Given the description of an element on the screen output the (x, y) to click on. 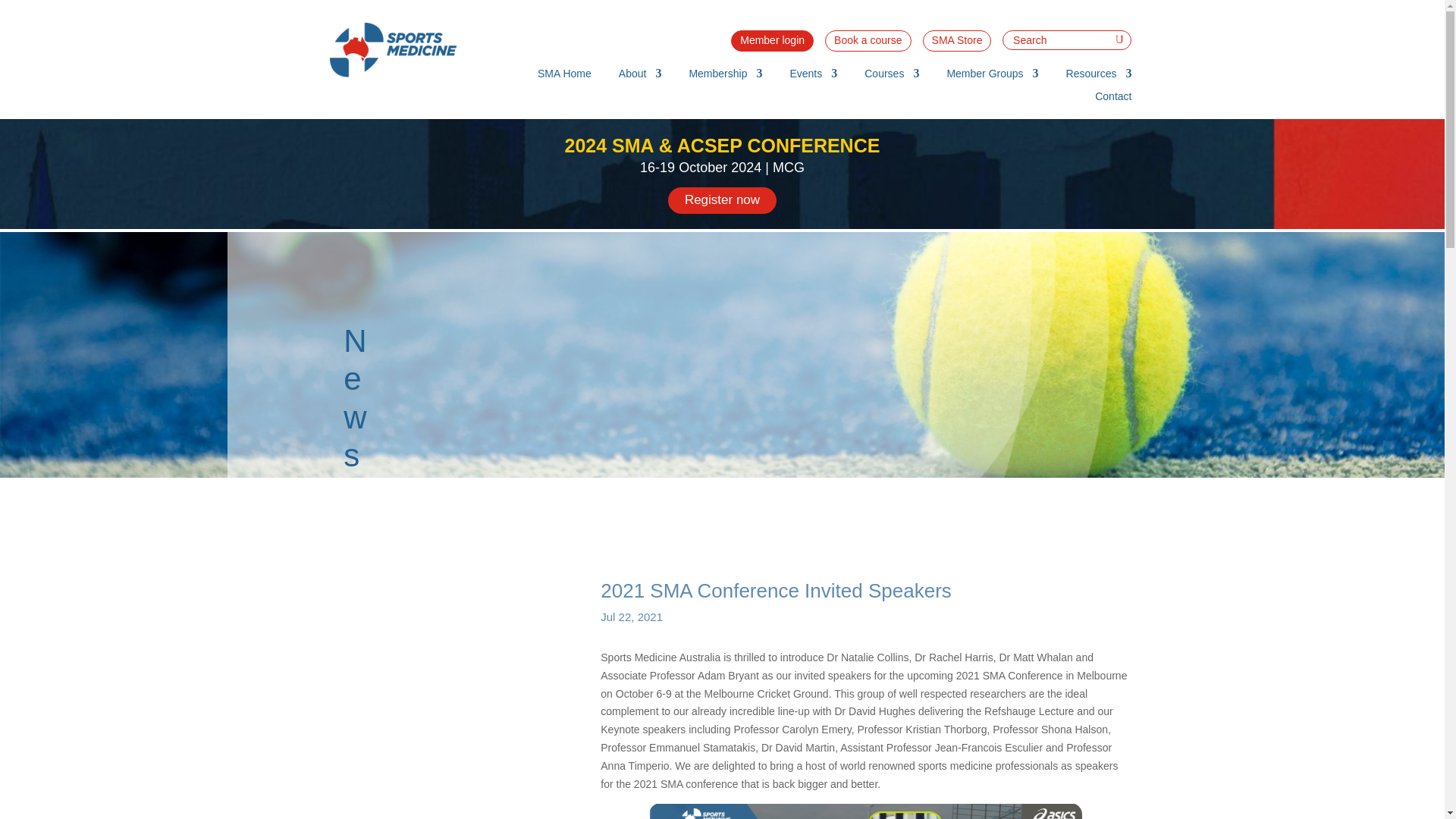
About (640, 76)
Search (24, 13)
Member login (771, 40)
SMA Home (564, 76)
Courses (891, 76)
Membership (724, 76)
Resources (1098, 76)
SMA Store (957, 40)
Sports Medicine Australia Logo (397, 49)
Member Groups (992, 76)
Book a course (868, 40)
Events (813, 76)
